Given the description of an element on the screen output the (x, y) to click on. 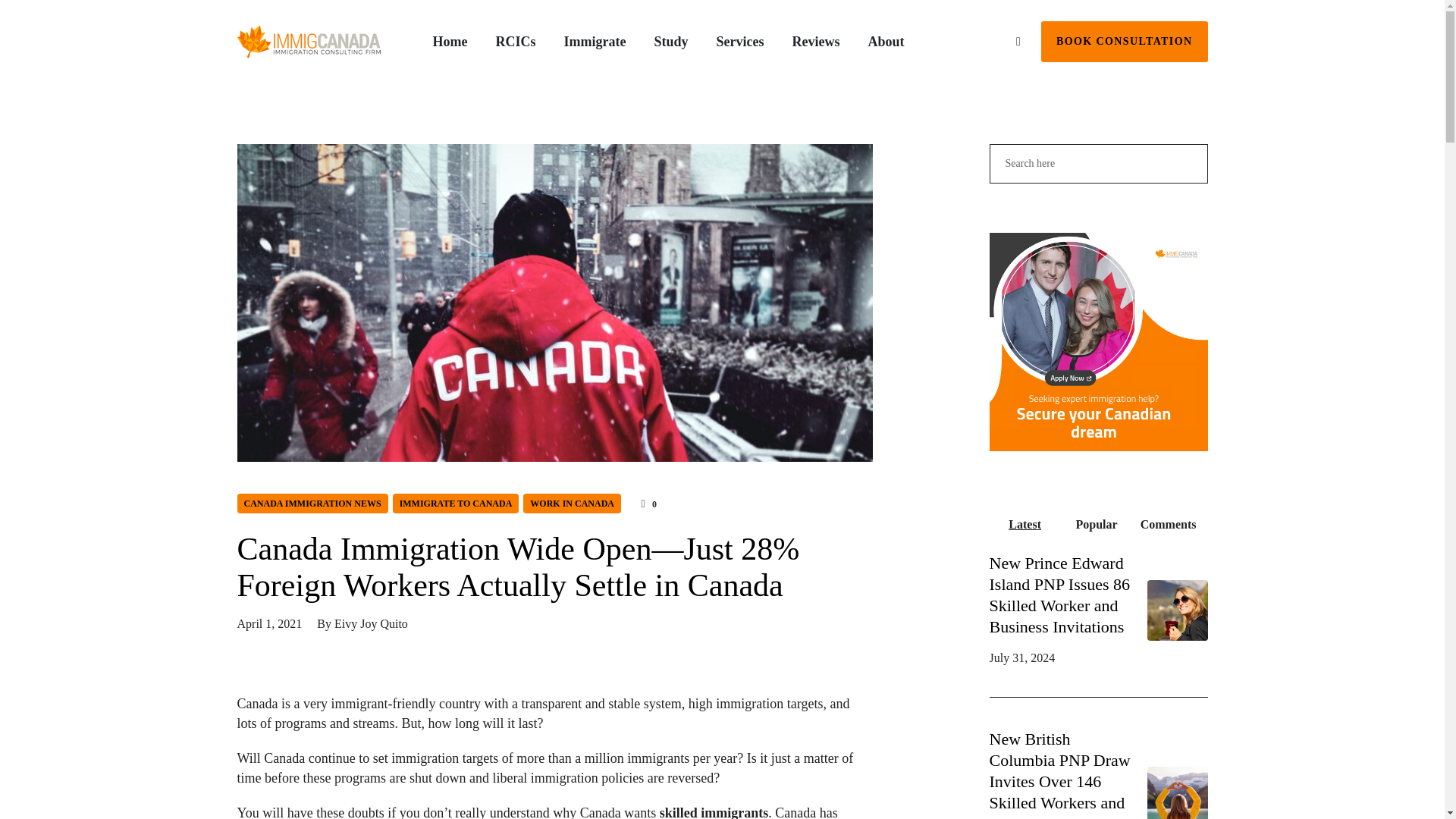
Immigrate (595, 41)
April 1, 2021 (268, 623)
Posts by Eivy Joy Quito (370, 623)
BOOK CONSULTATION (1124, 41)
